Given the description of an element on the screen output the (x, y) to click on. 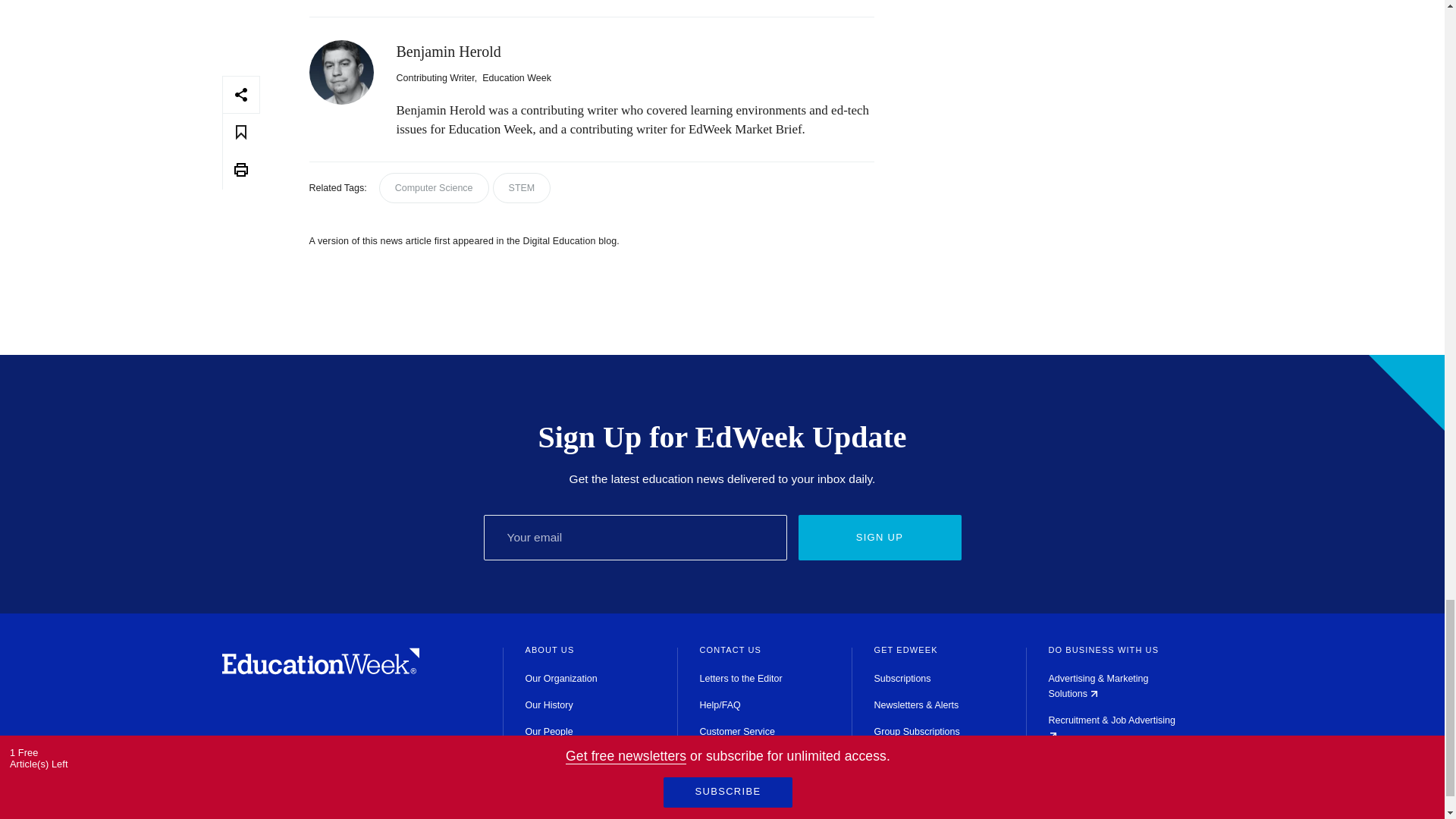
Homepage (320, 670)
